Given the description of an element on the screen output the (x, y) to click on. 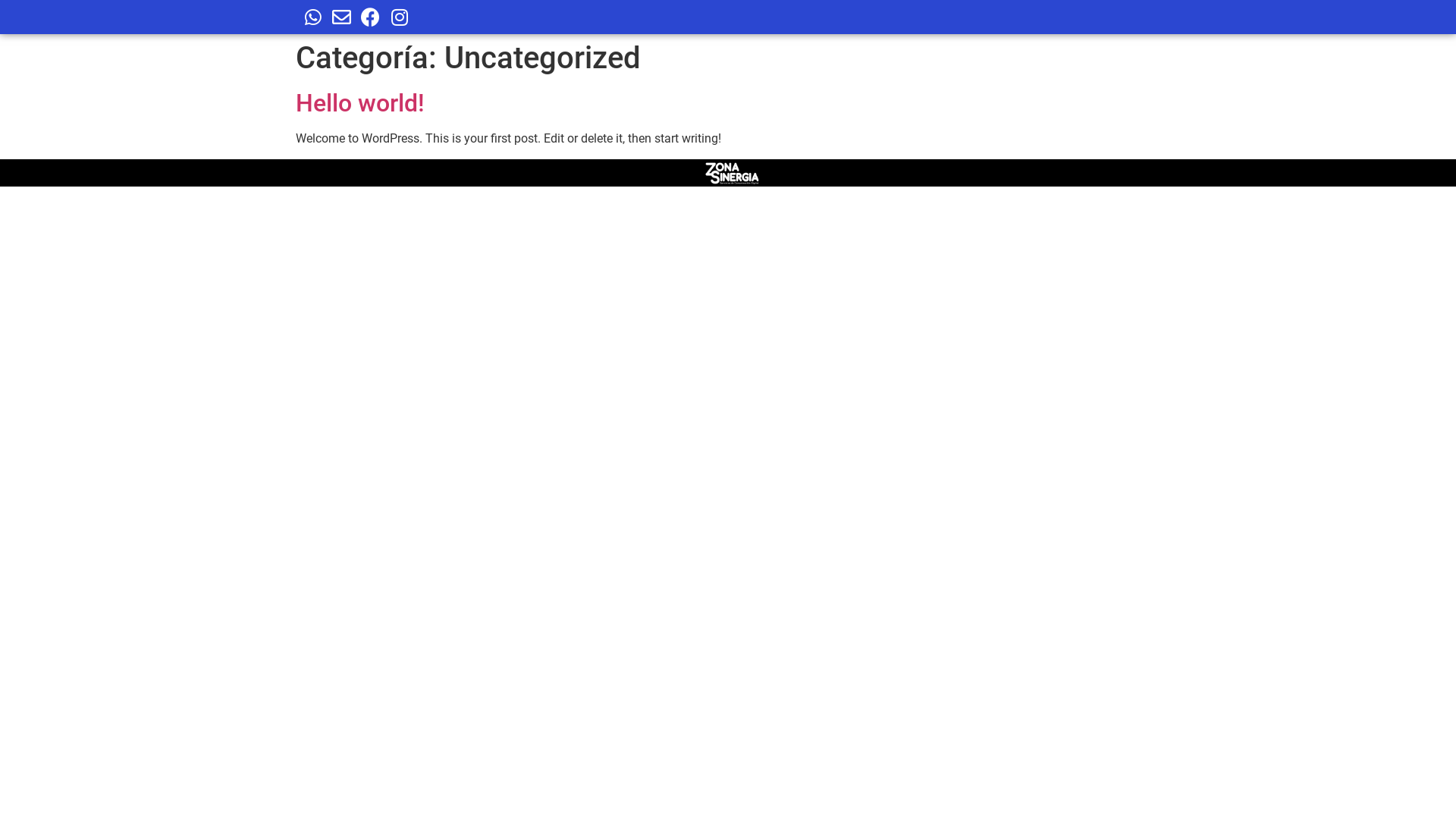
Hello world! Element type: text (359, 102)
